Given the description of an element on the screen output the (x, y) to click on. 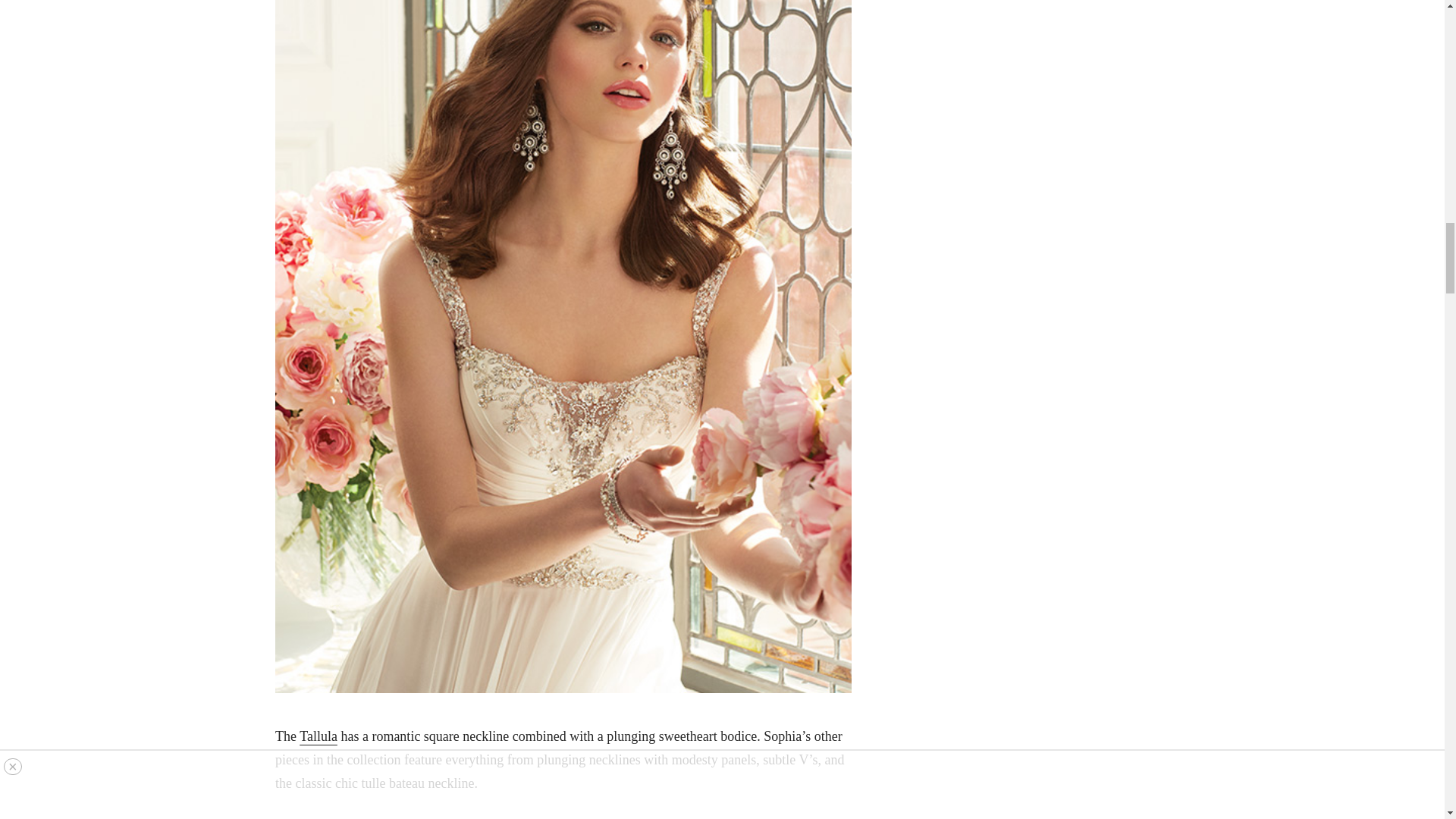
Tallula (318, 735)
